Given the description of an element on the screen output the (x, y) to click on. 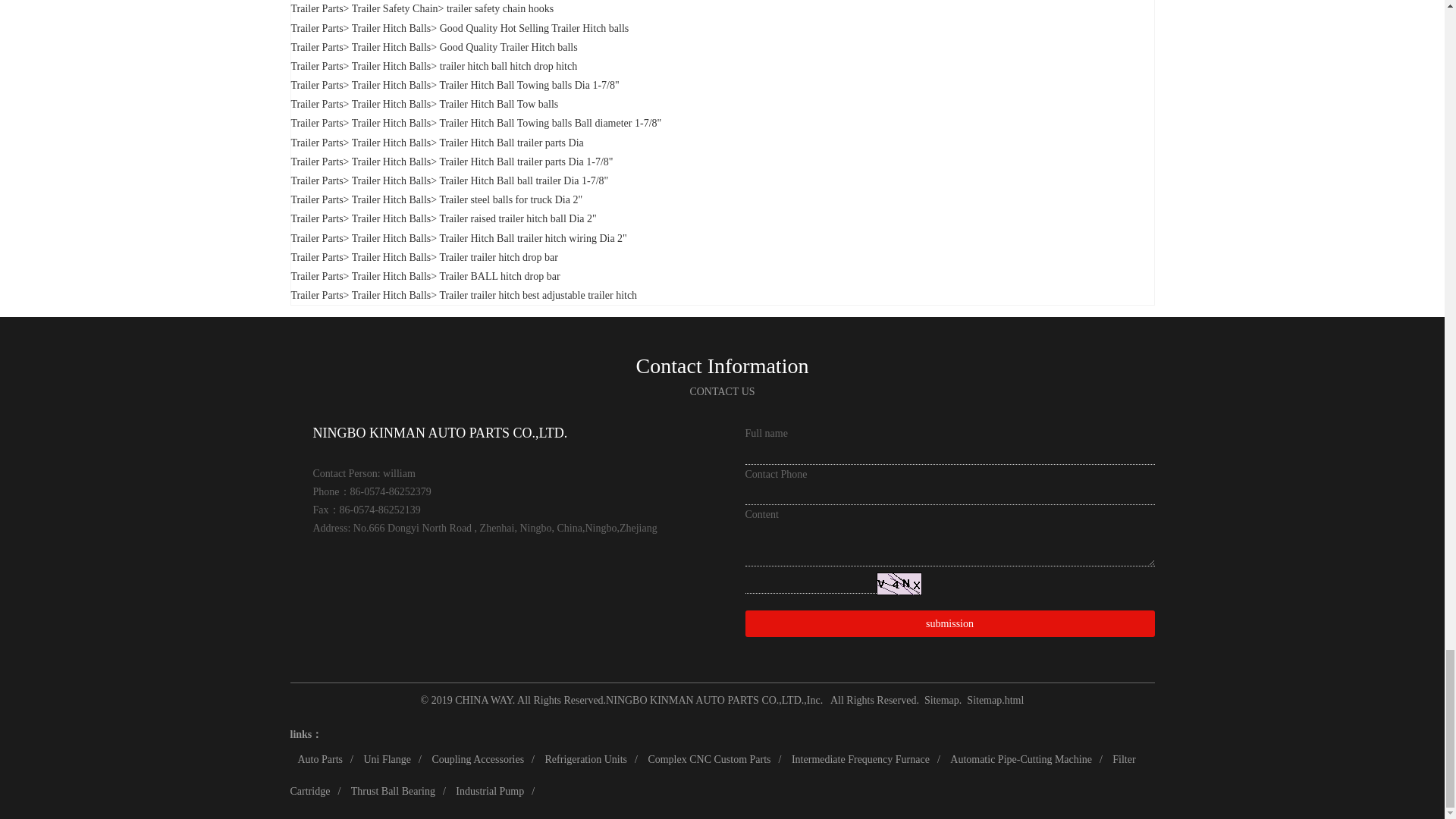
submission (949, 623)
